Given the description of an element on the screen output the (x, y) to click on. 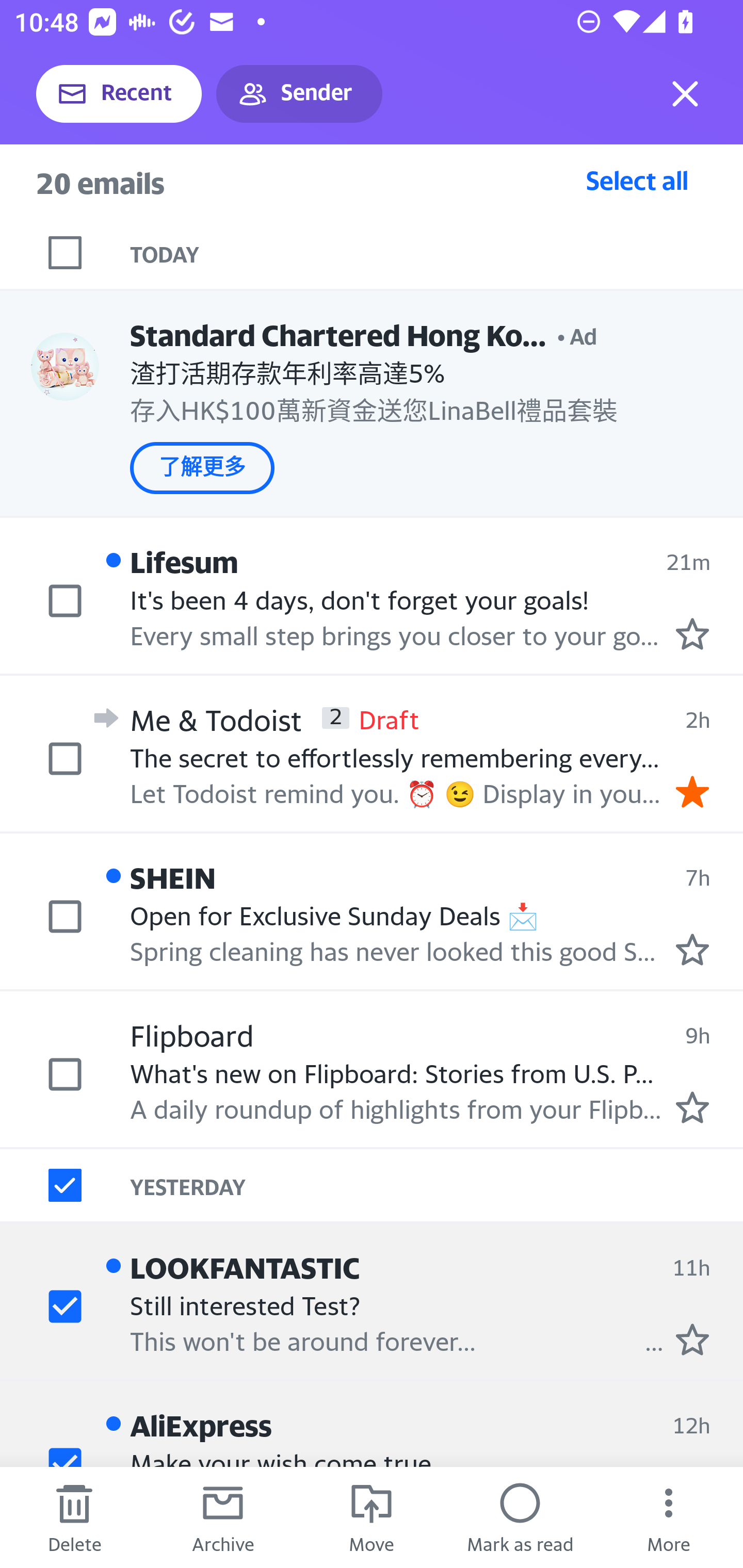
Sender (299, 93)
Exit selection mode (684, 93)
Select all (637, 180)
TODAY (436, 252)
Mark as starred. (692, 634)
Remove star. (692, 791)
Mark as starred. (692, 949)
Mark as starred. (692, 1107)
YESTERDAY (436, 1184)
Mark as starred. (692, 1339)
Delete (74, 1517)
Archive (222, 1517)
Move (371, 1517)
Mark as read (519, 1517)
More (668, 1517)
